Given the description of an element on the screen output the (x, y) to click on. 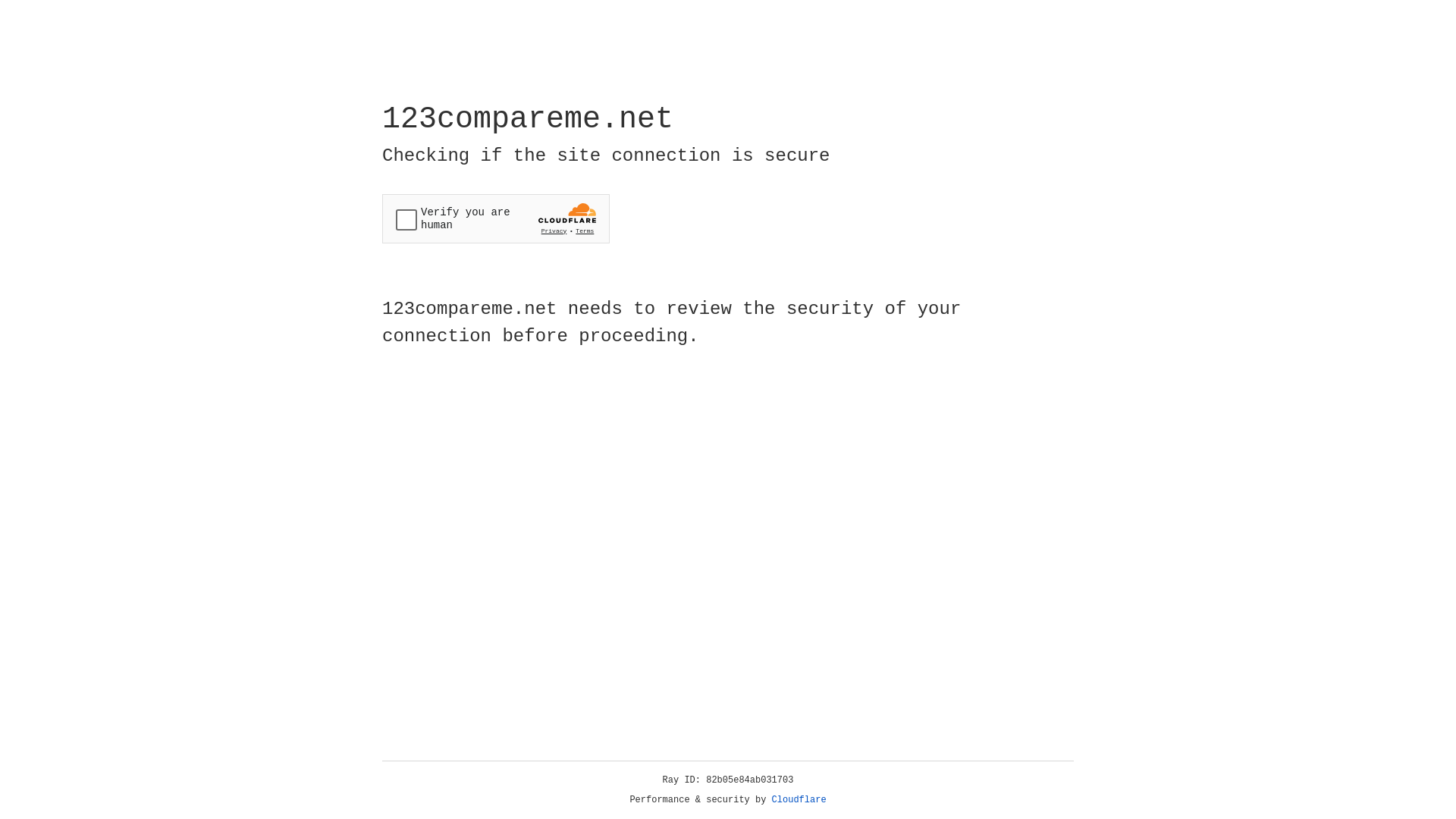
Widget containing a Cloudflare security challenge Element type: hover (495, 218)
Cloudflare Element type: text (798, 799)
